Given the description of an element on the screen output the (x, y) to click on. 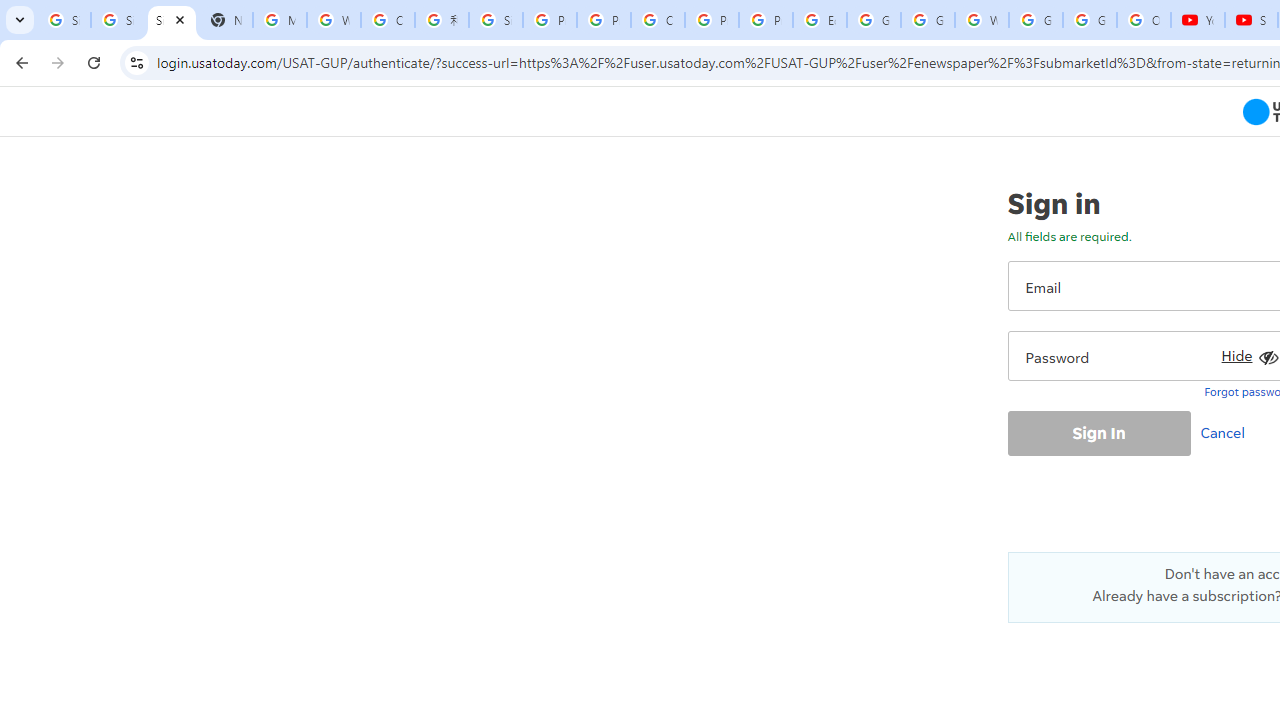
New Tab (225, 20)
Create your Google Account (657, 20)
Welcome to My Activity (981, 20)
Who is my administrator? - Google Account Help (333, 20)
Google Account (1089, 20)
